Given the description of an element on the screen output the (x, y) to click on. 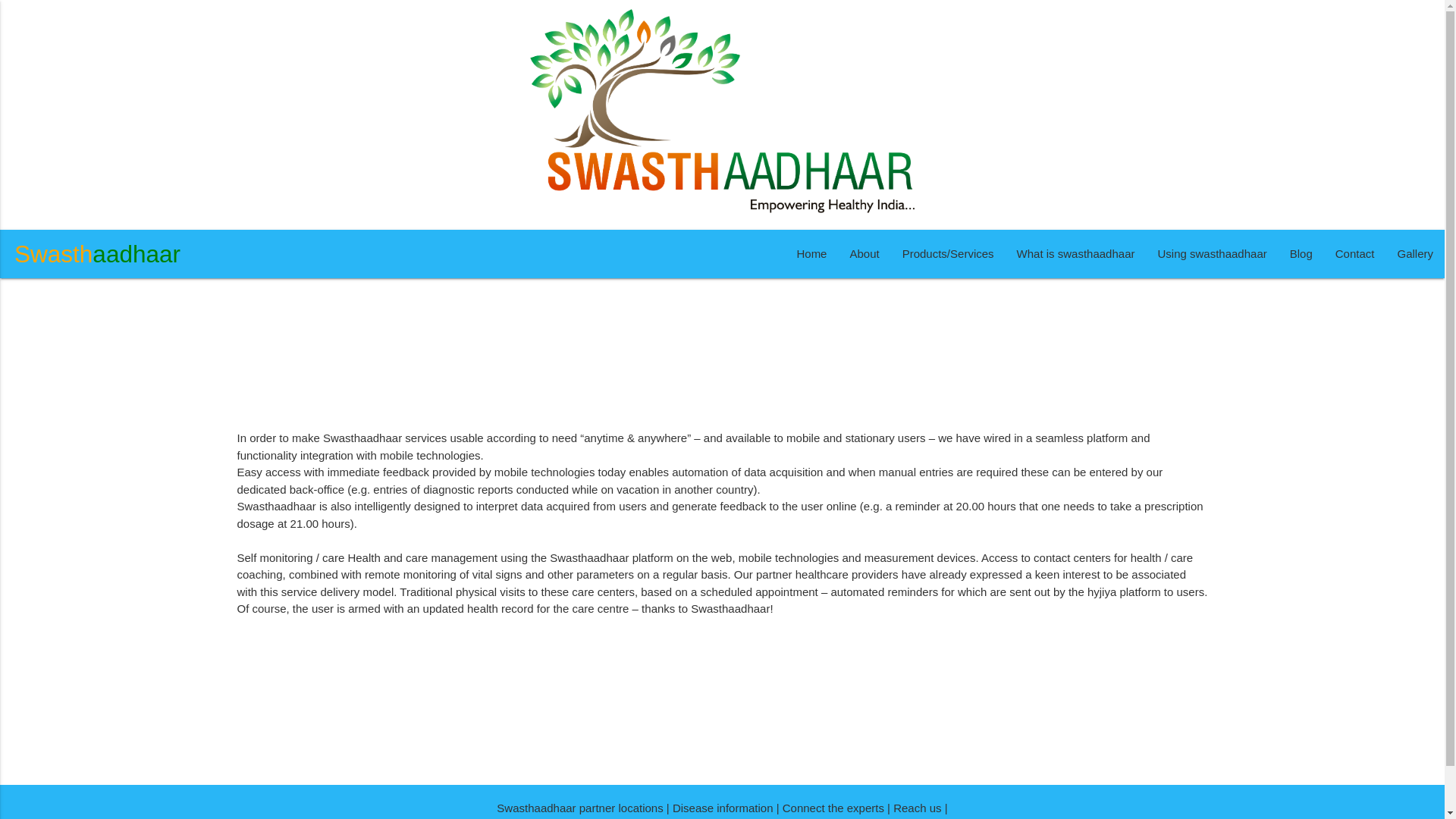
Swasthaadhaar (97, 254)
About (863, 254)
Using swasthaadhaar (1211, 254)
Home (811, 254)
What is swasthaadhaar (1076, 254)
